Given the description of an element on the screen output the (x, y) to click on. 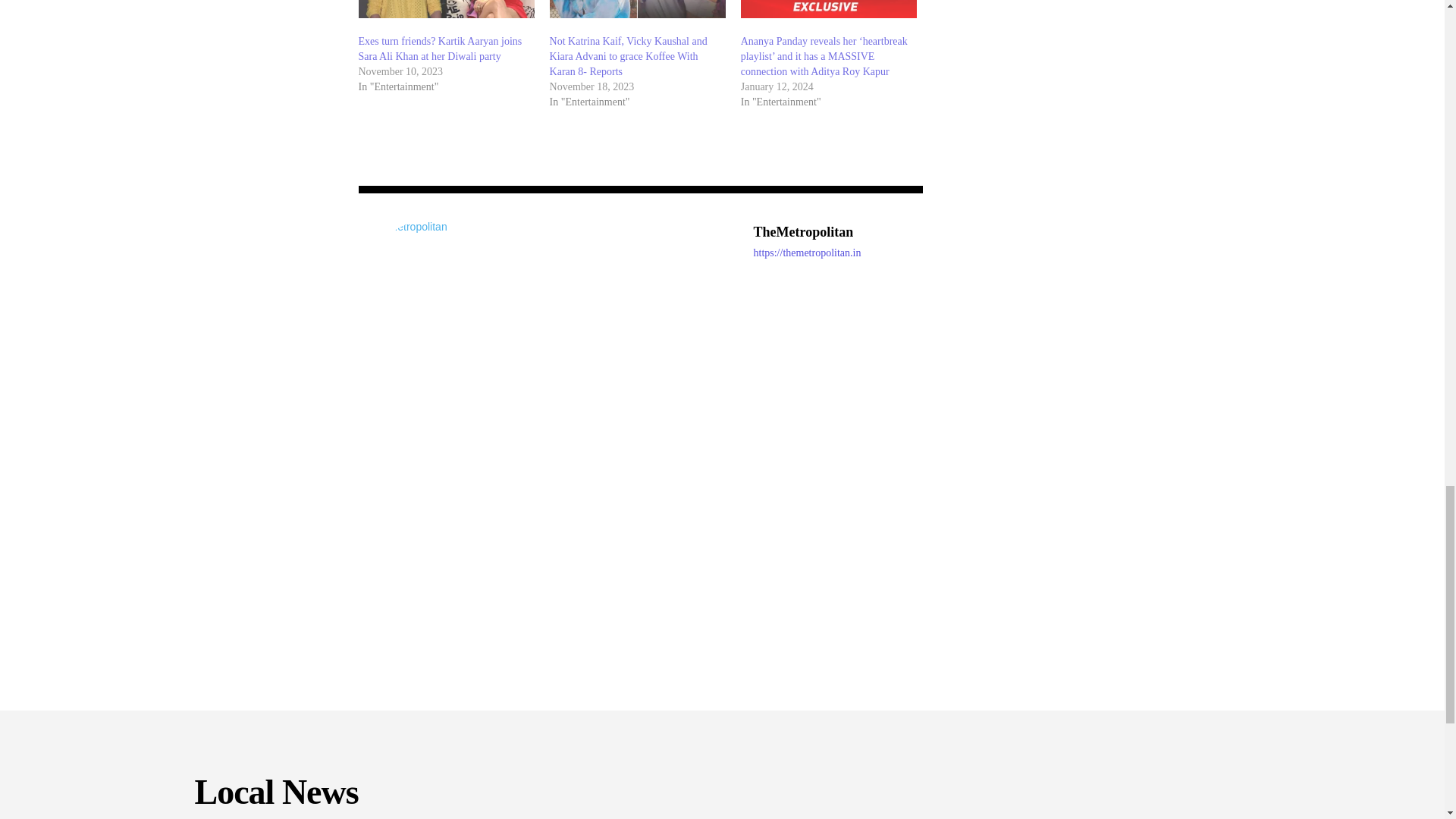
TheMetropolitan (807, 232)
